Given the description of an element on the screen output the (x, y) to click on. 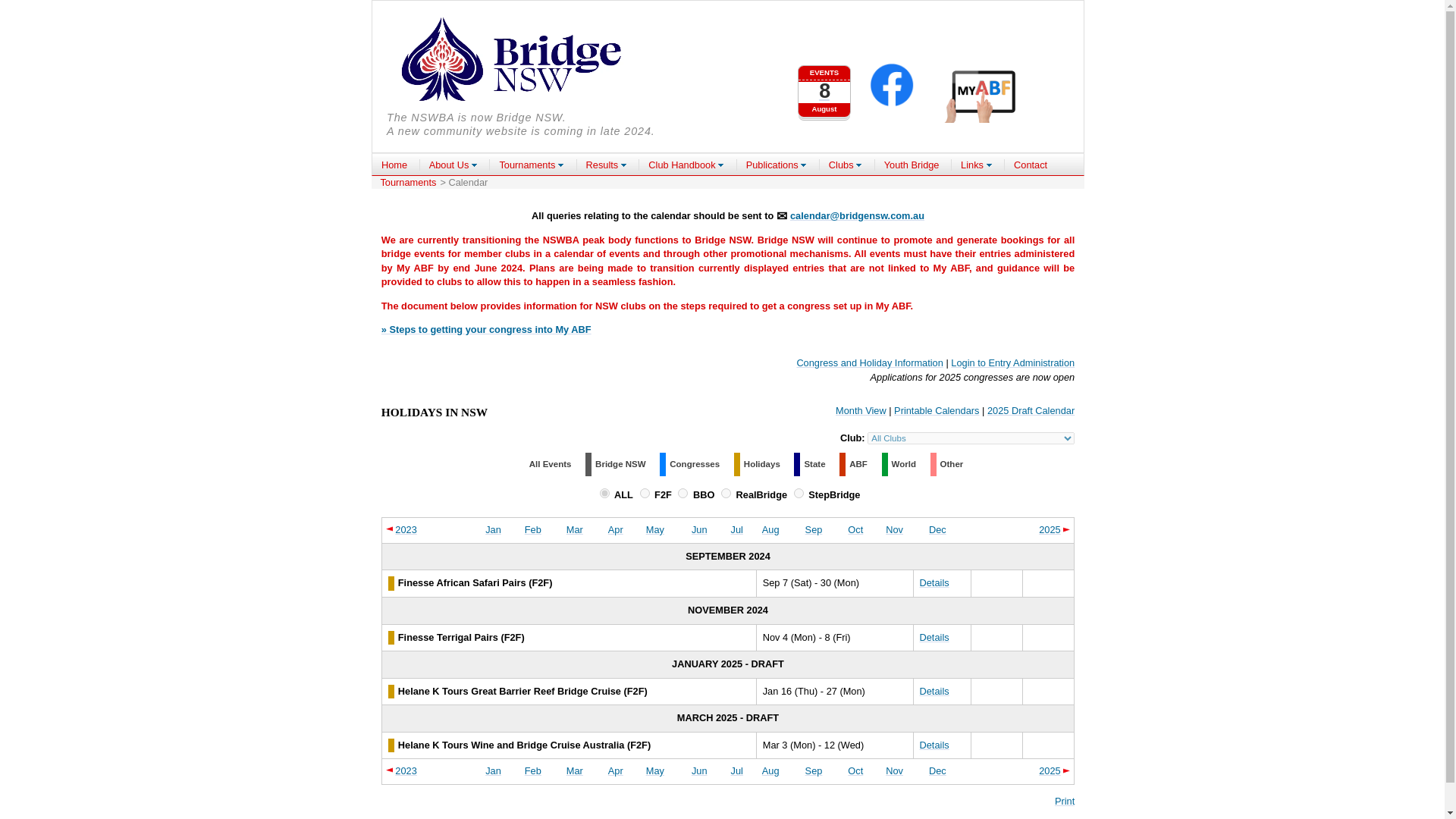
Mar 2024 (574, 529)
Mar 2024 (574, 770)
About Us (453, 164)
Oct 2024 (855, 529)
Contact (1030, 164)
Jan (822, 84)
Apr (492, 529)
All Events (615, 529)
Jul (550, 463)
